Given the description of an element on the screen output the (x, y) to click on. 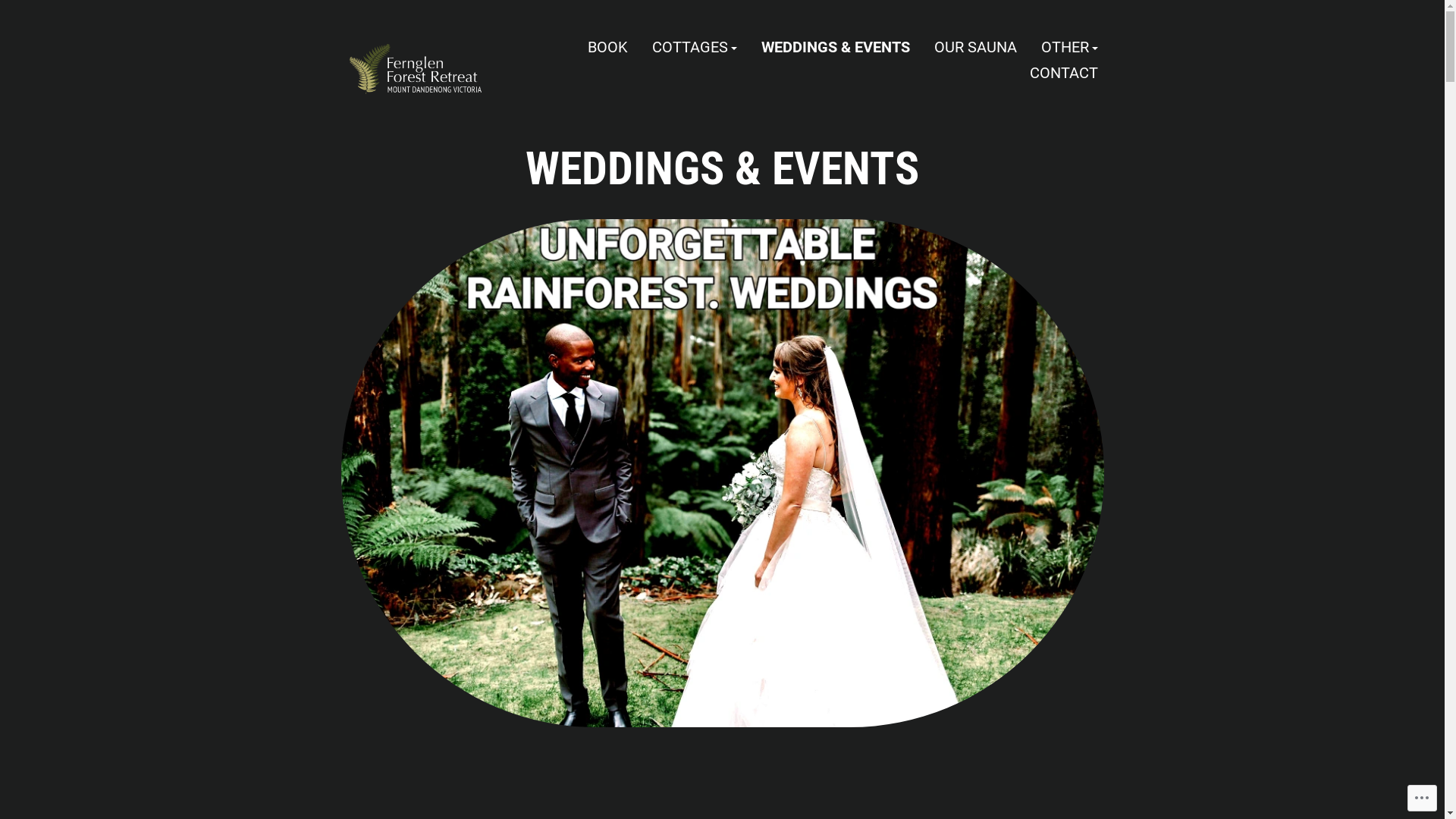
OUR SAUNA Element type: text (975, 47)
BOOK Element type: text (606, 47)
WEDDINGS & EVENTS Element type: text (835, 47)
OTHER Element type: text (1068, 47)
COTTAGES Element type: text (694, 47)
CONTACT Element type: text (1063, 72)
Fernglen Forest Retreat Element type: text (445, 112)
